Given the description of an element on the screen output the (x, y) to click on. 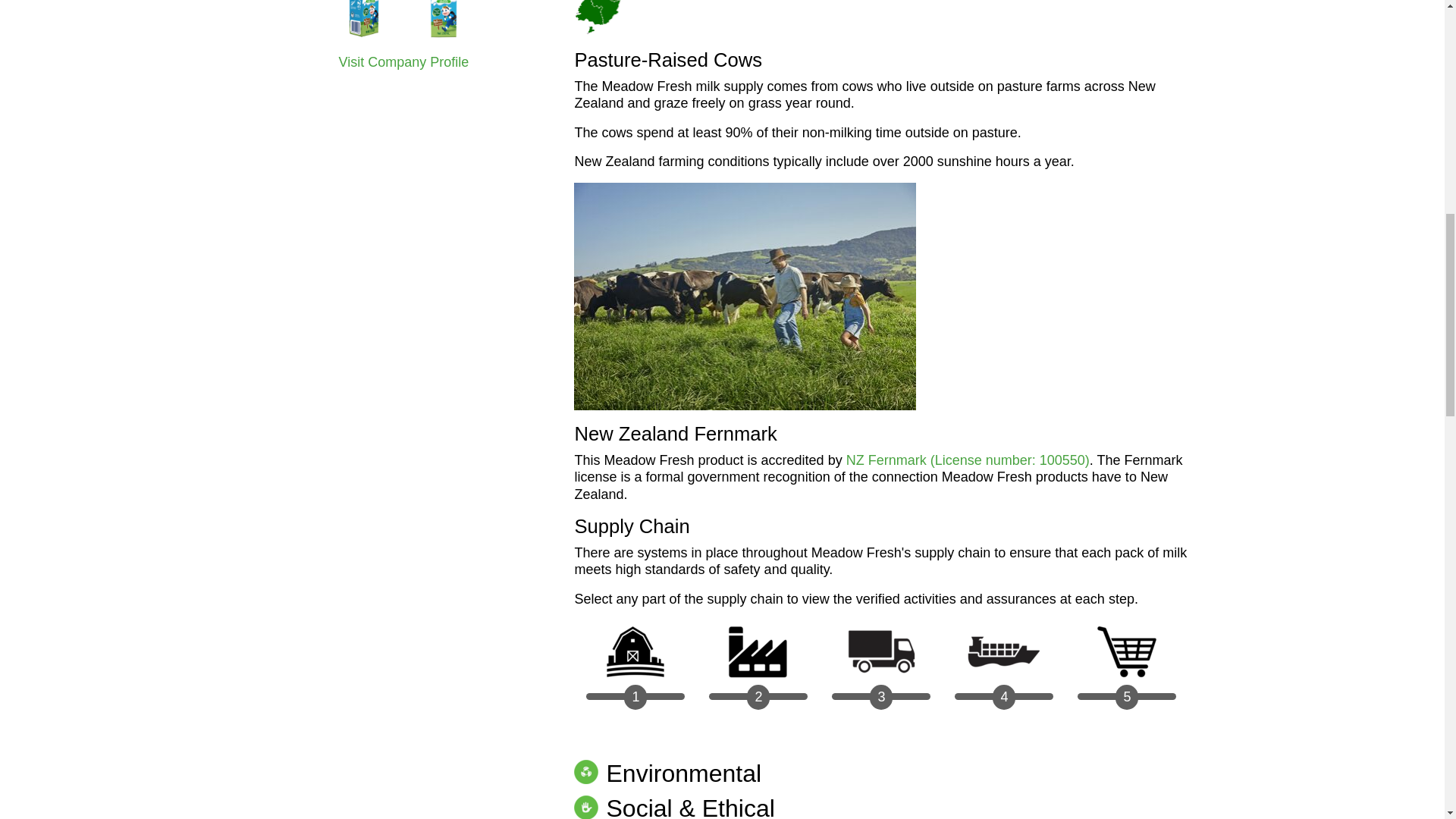
1 (635, 671)
5 (1126, 671)
Nz Full (640, 18)
3 (880, 671)
4 (1003, 671)
MF Farm (744, 296)
2 (758, 671)
Visit Company Profile (403, 61)
Environmental (667, 773)
